Given the description of an element on the screen output the (x, y) to click on. 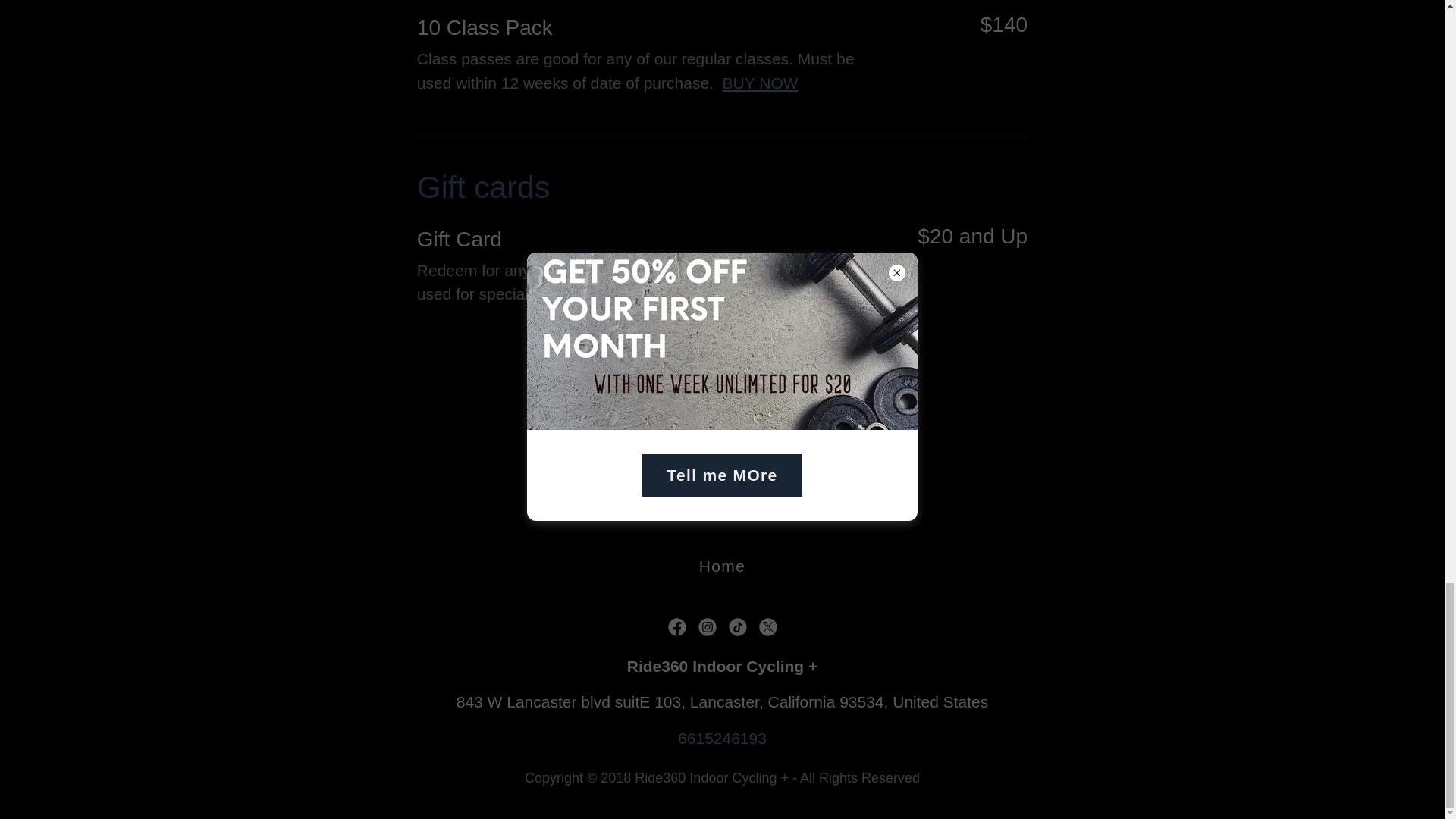
Home (722, 566)
BUY NOW (759, 82)
BUY NOW (676, 293)
